Given the description of an element on the screen output the (x, y) to click on. 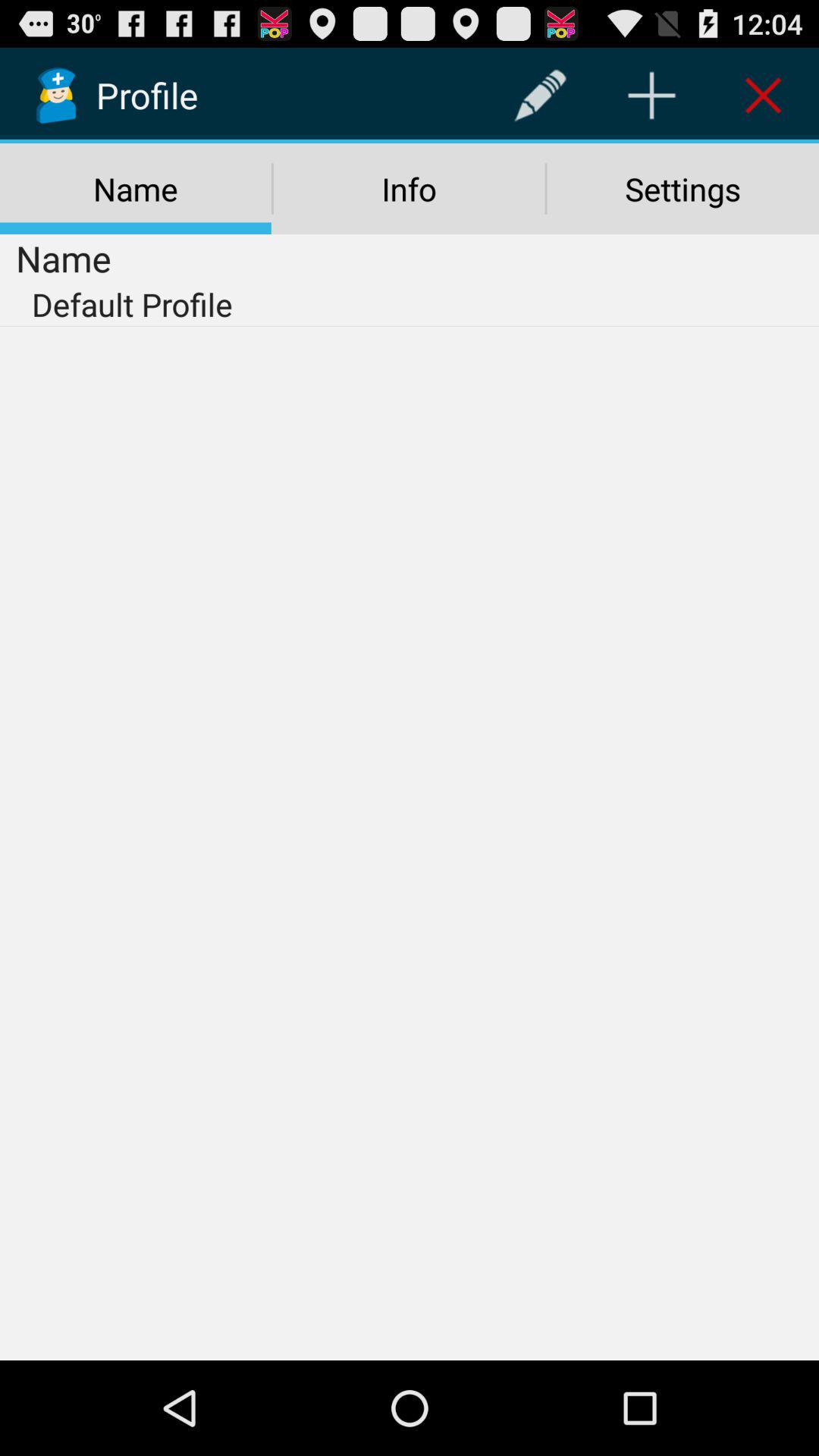
launch item above the settings item (763, 95)
